Given the description of an element on the screen output the (x, y) to click on. 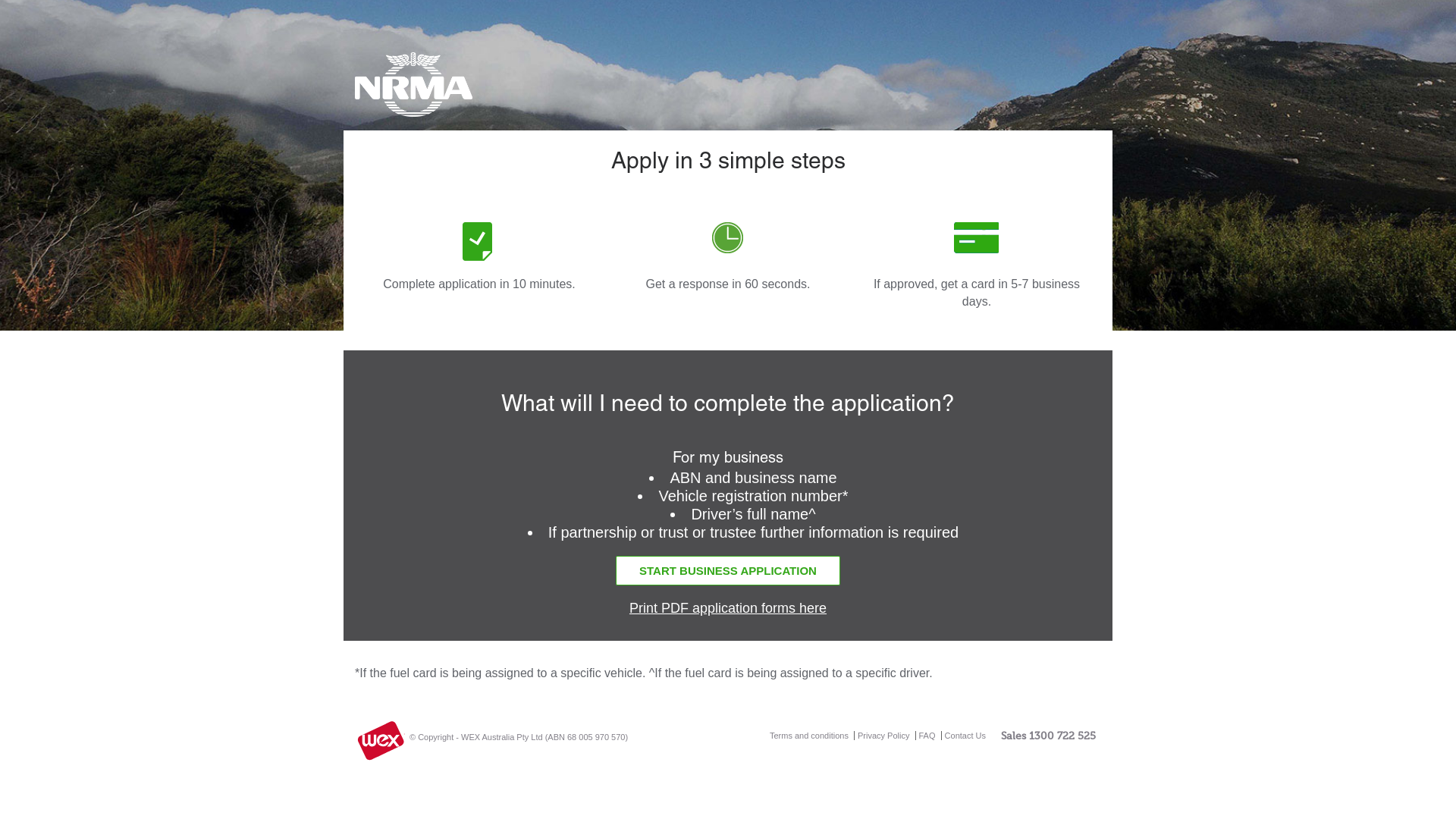
Print PDF application forms here Element type: text (727, 607)
Logo Element type: hover (457, 89)
Contact Us Element type: text (964, 735)
Terms and conditions Element type: text (810, 735)
Privacy Policy Element type: text (882, 735)
Sales 1300 722 525 Element type: text (1049, 736)
Wex Element type: hover (381, 740)
START BUSINESS APPLICATION Element type: text (727, 570)
FAQ Element type: text (926, 735)
